Given the description of an element on the screen output the (x, y) to click on. 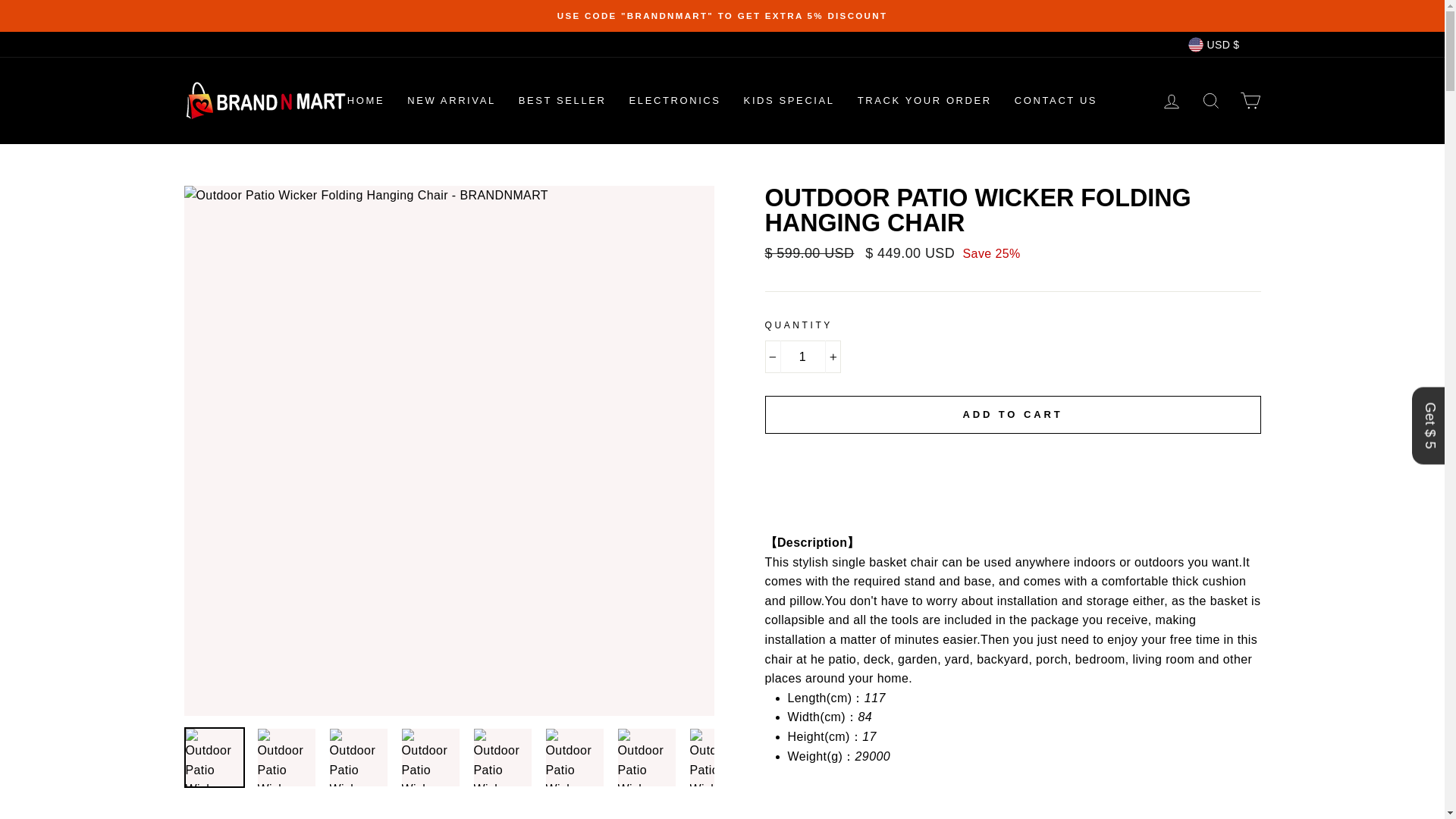
NEW ARRIVAL (451, 100)
ELECTRONICS (674, 100)
KIDS SPECIAL (788, 100)
BEST SELLER (561, 100)
1 (802, 356)
HOME (366, 100)
